Given the description of an element on the screen output the (x, y) to click on. 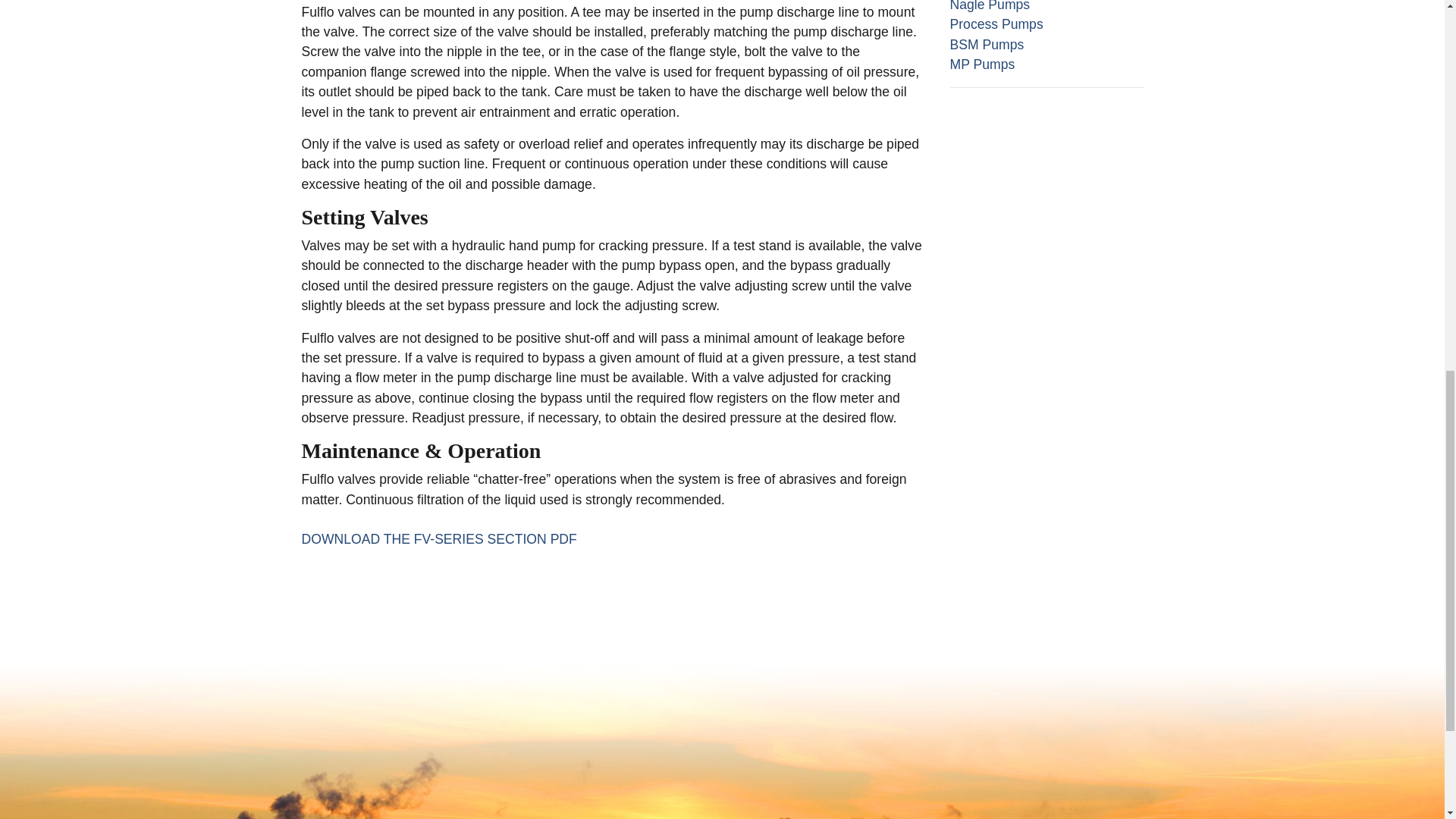
Nagle Pumps (989, 6)
MP Pumps (981, 64)
BSM Pumps (986, 44)
DOWNLOAD THE FV-SERIES SECTION PDF (438, 539)
Process Pumps (995, 23)
